Given the description of an element on the screen output the (x, y) to click on. 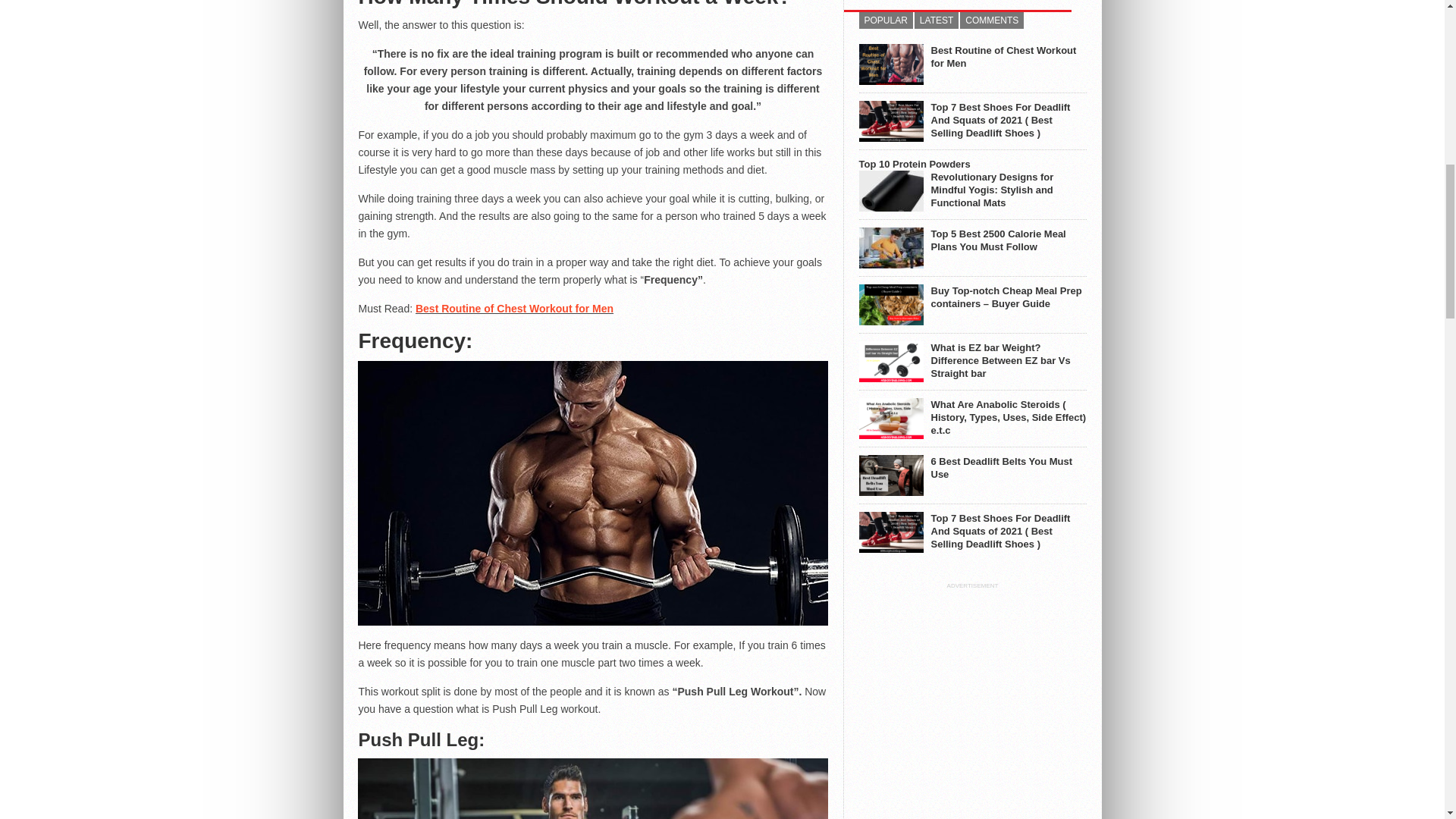
Best Routine of Chest Workout for Men (513, 308)
Best Routine of Chest Workout for Men HS Bodybuilding (891, 64)
